Given the description of an element on the screen output the (x, y) to click on. 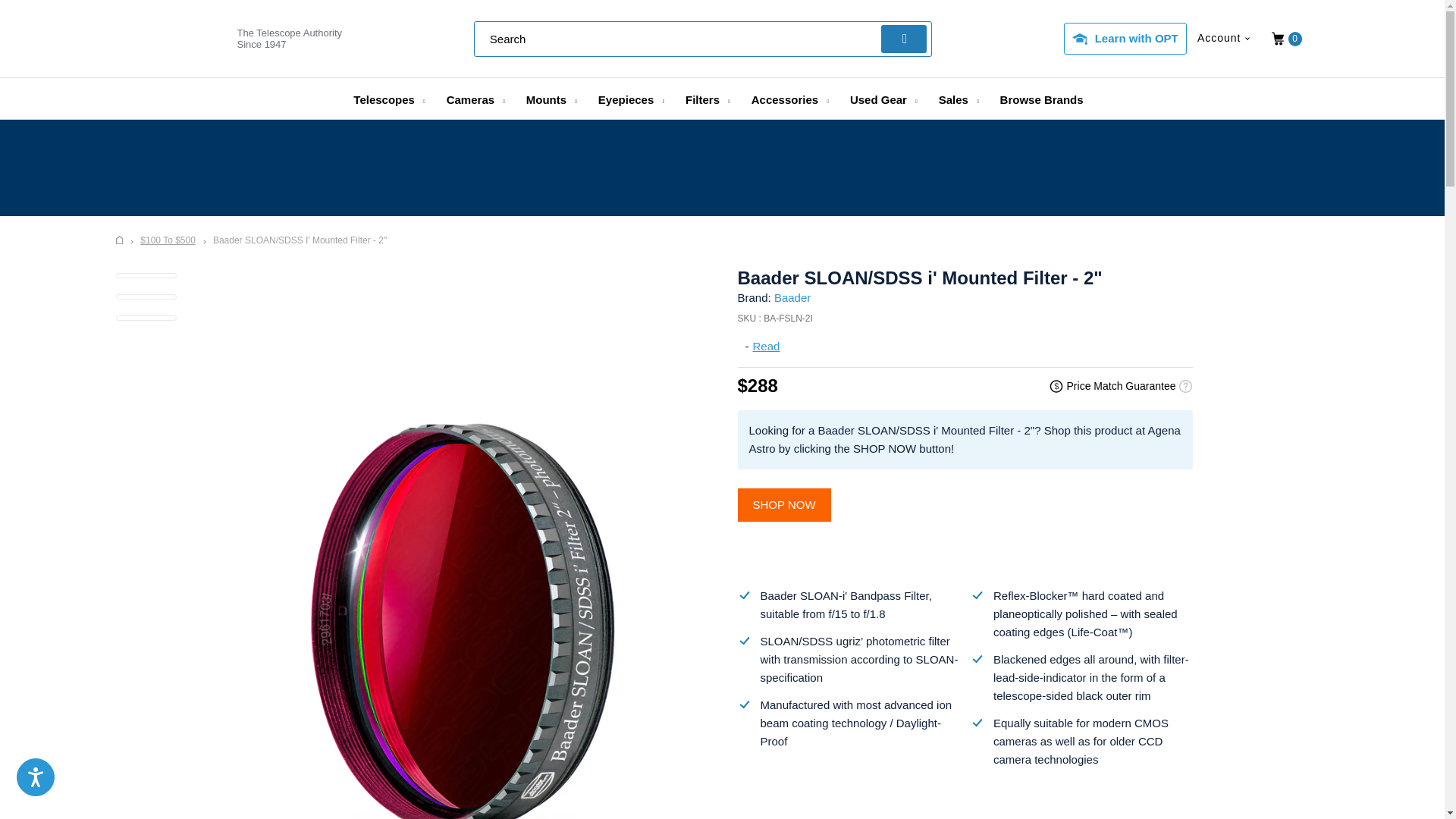
OPT Telescopes (120, 239)
